Given the description of an element on the screen output the (x, y) to click on. 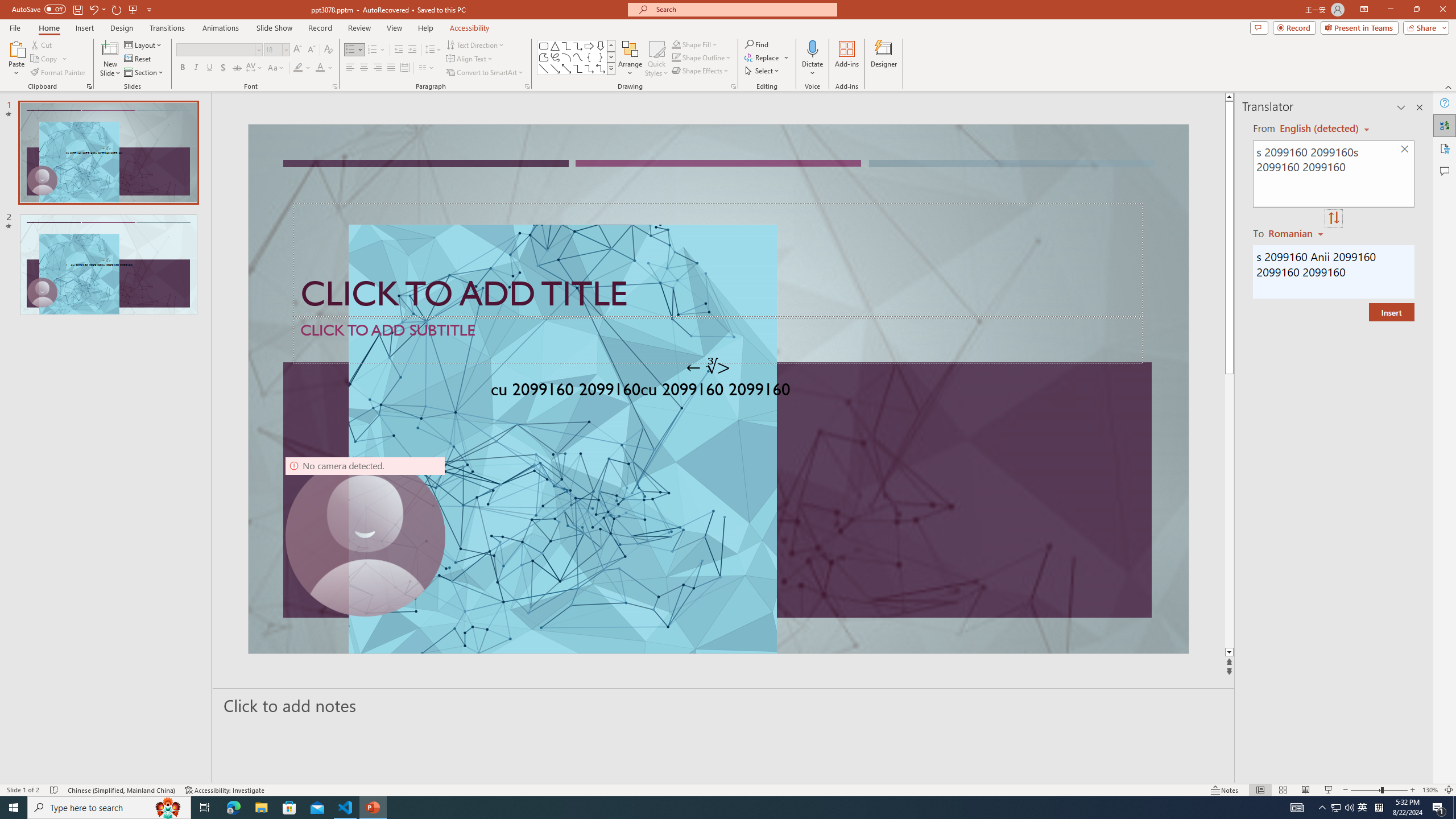
TextBox 7 (708, 367)
